Given the description of an element on the screen output the (x, y) to click on. 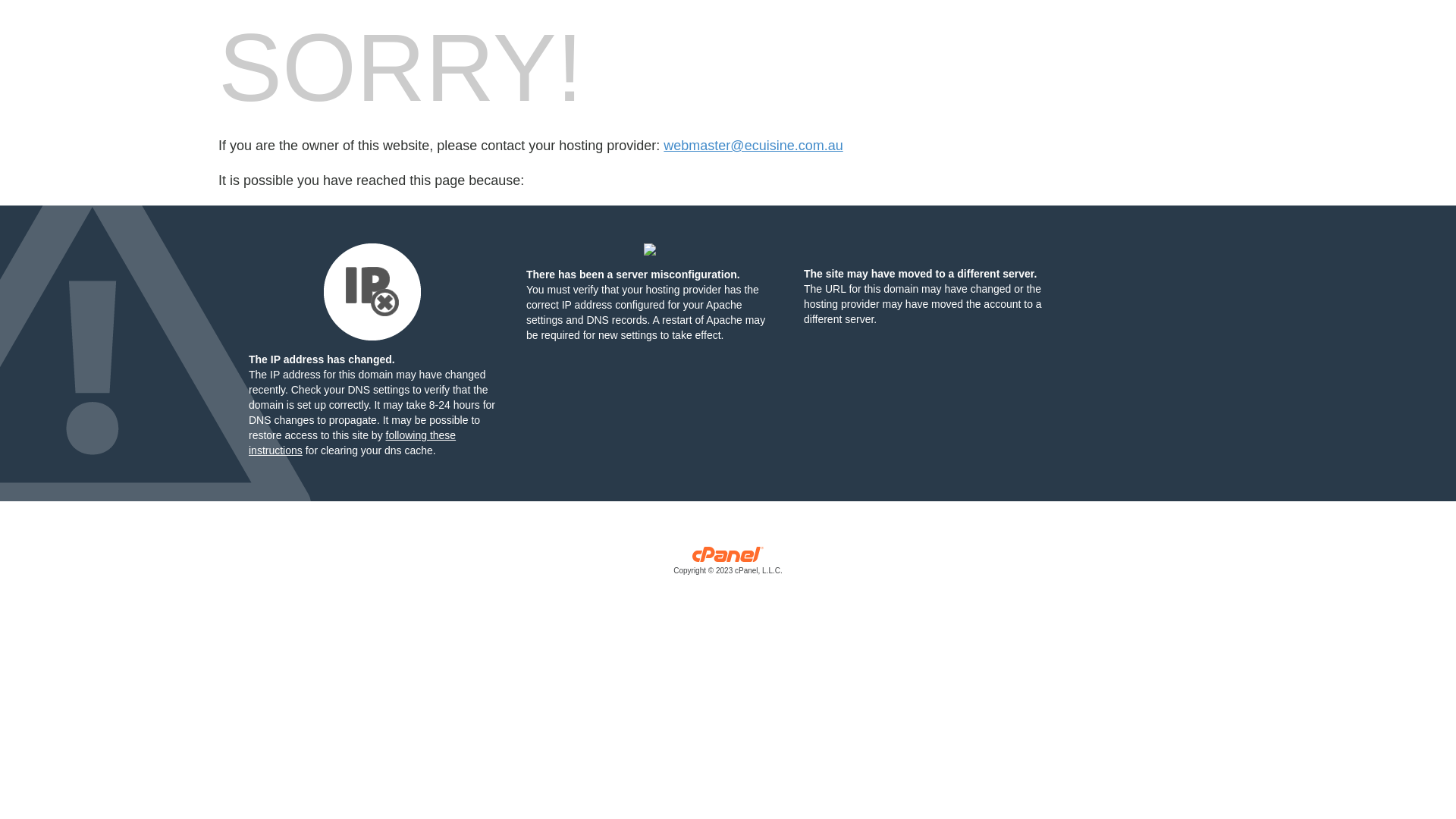
webmaster@ecuisine.com.au Element type: text (752, 145)
following these instructions Element type: text (351, 442)
